Given the description of an element on the screen output the (x, y) to click on. 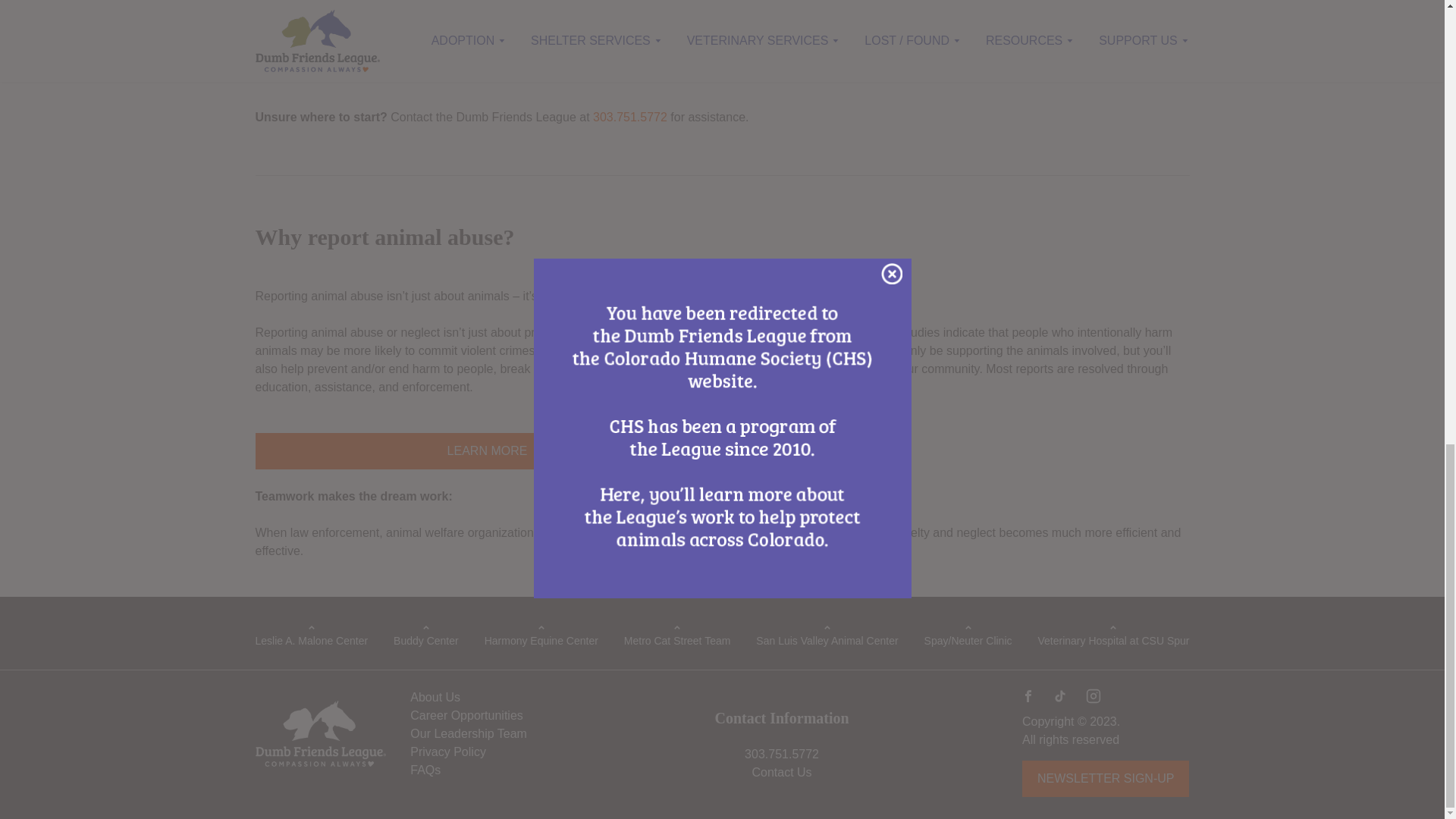
TikTok (1059, 695)
Facebook (1027, 695)
Instagram (1093, 695)
